Given the description of an element on the screen output the (x, y) to click on. 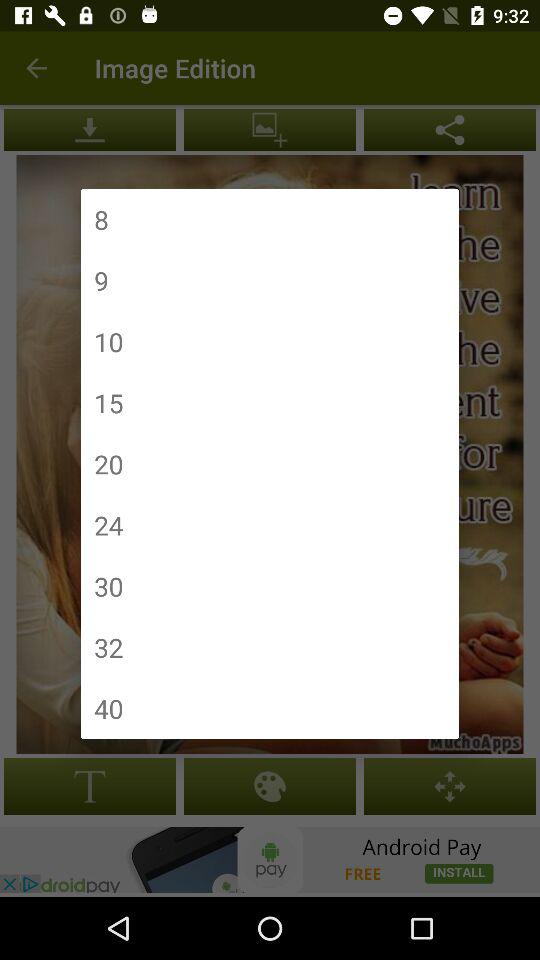
tap the 24 item (108, 524)
